Given the description of an element on the screen output the (x, y) to click on. 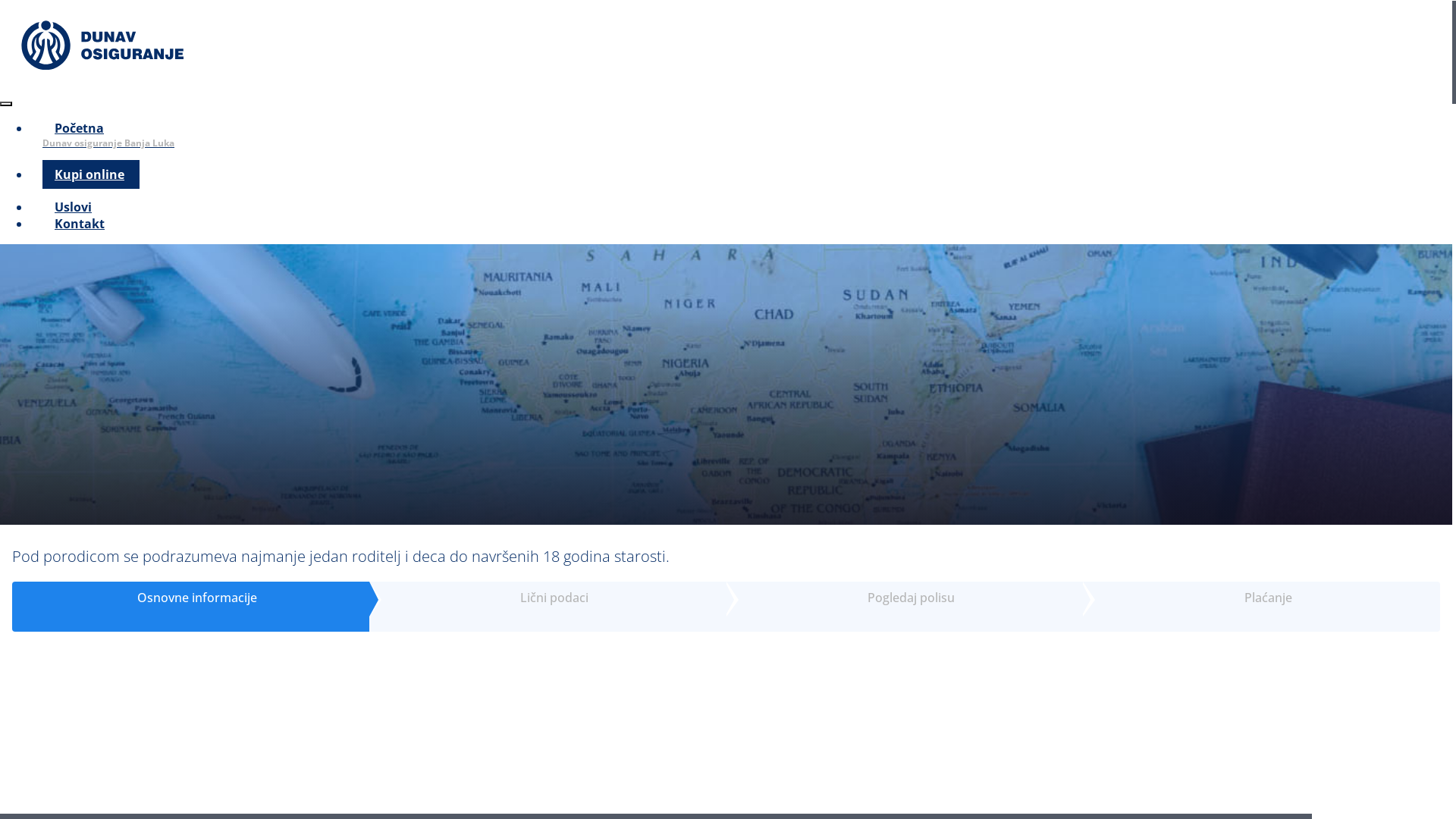
Uslovi Element type: text (72, 207)
Kontakt Element type: text (79, 224)
Osnovne informacije Element type: text (190, 597)
Kupi online Element type: text (90, 174)
Dunav osiguranje a.d. Banja Luka Element type: hover (102, 45)
